Given the description of an element on the screen output the (x, y) to click on. 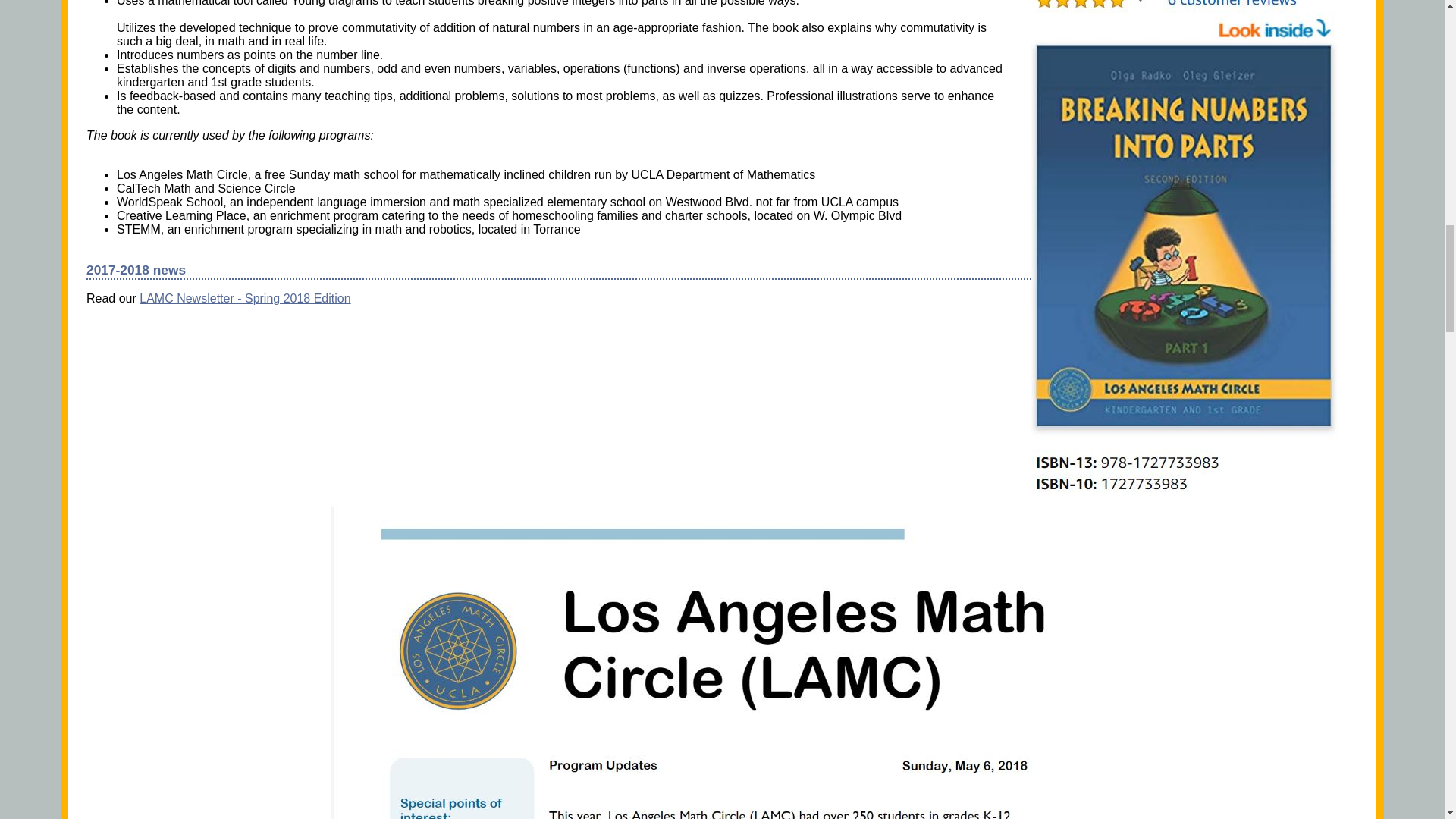
LAMC Newsletter - Spring 2018 Edition (244, 297)
